Given the description of an element on the screen output the (x, y) to click on. 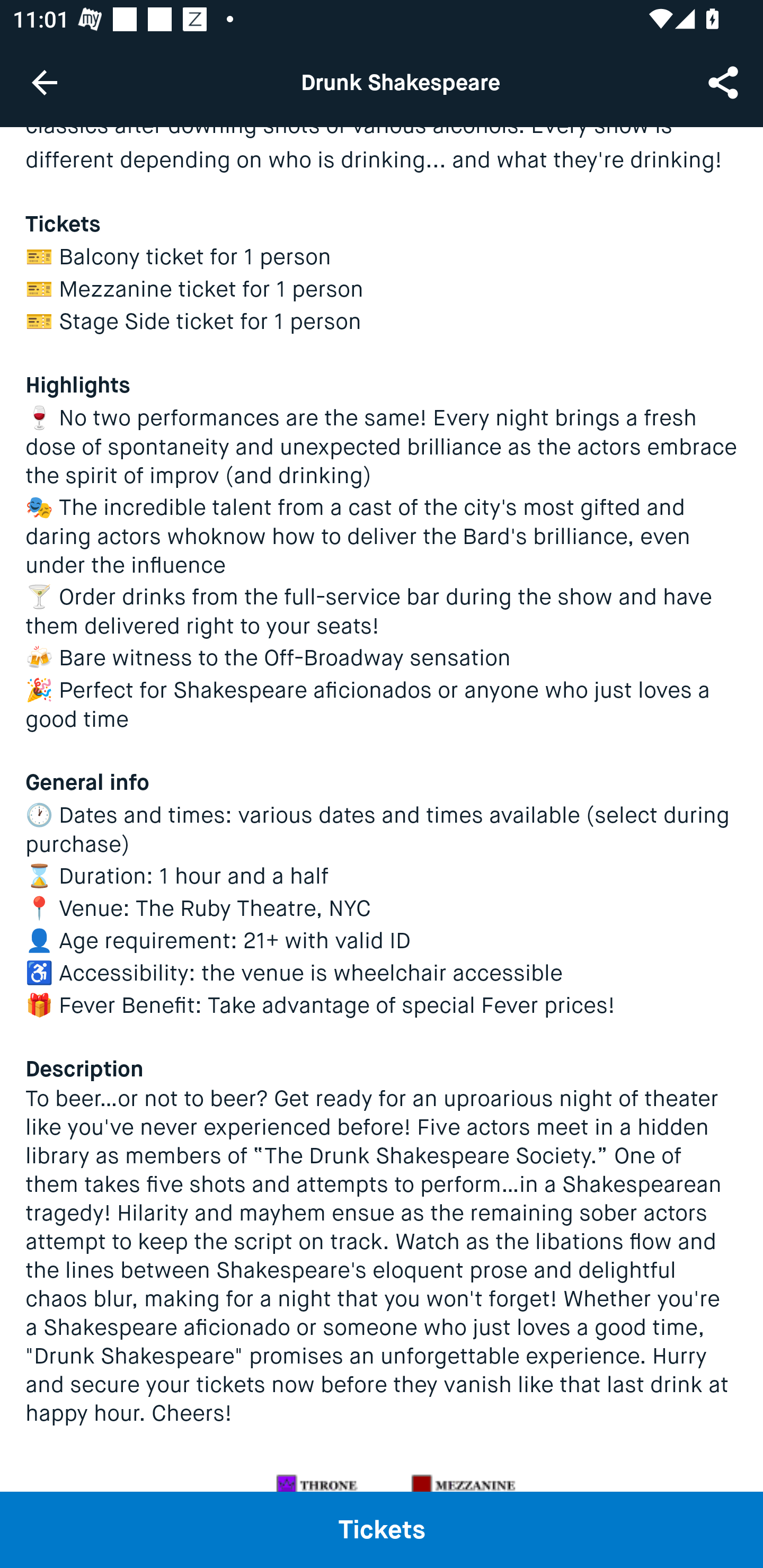
Navigate up (44, 82)
Share (724, 81)
Tickets (381, 1529)
